Given the description of an element on the screen output the (x, y) to click on. 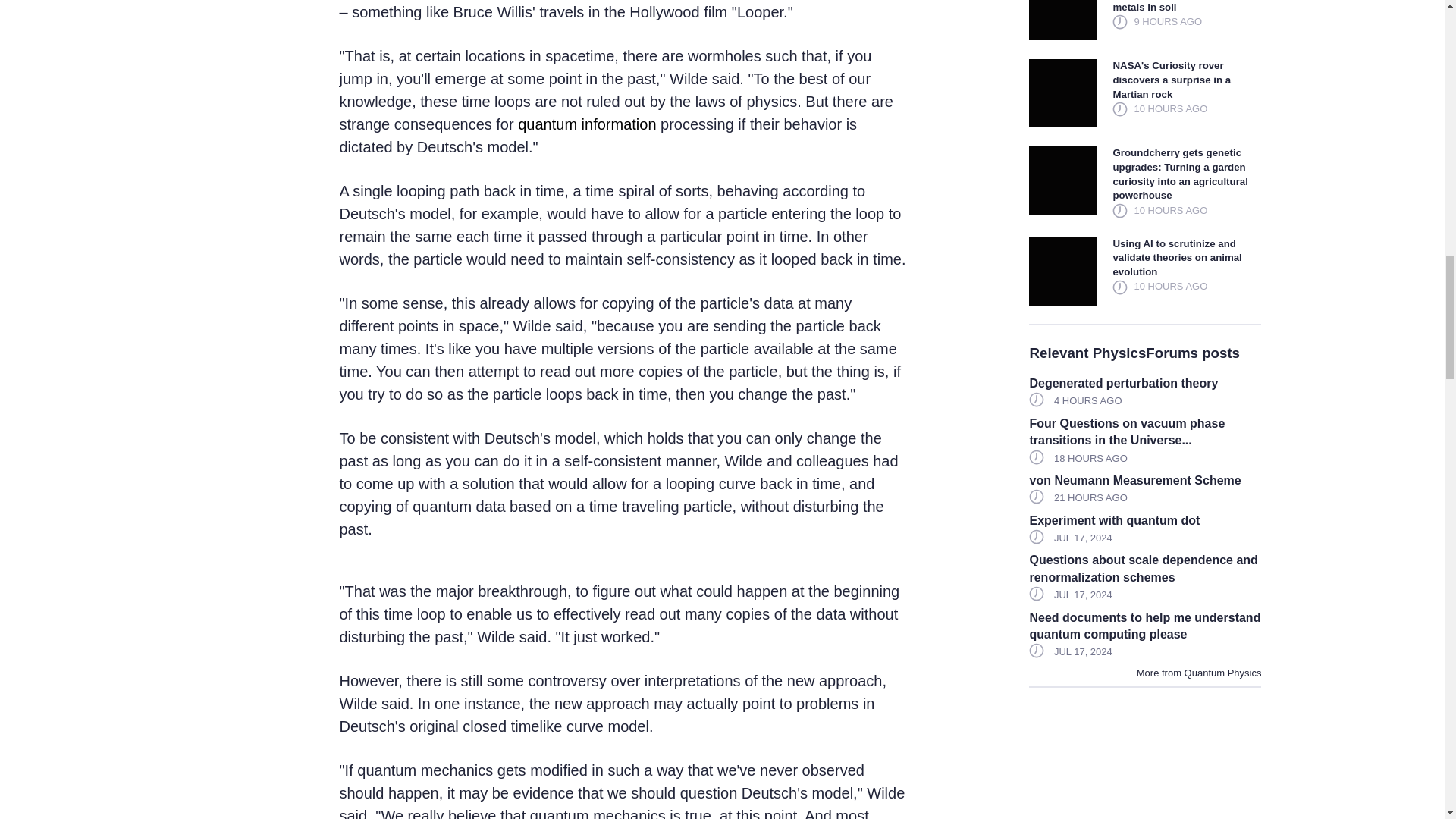
quantum information (587, 124)
